Given the description of an element on the screen output the (x, y) to click on. 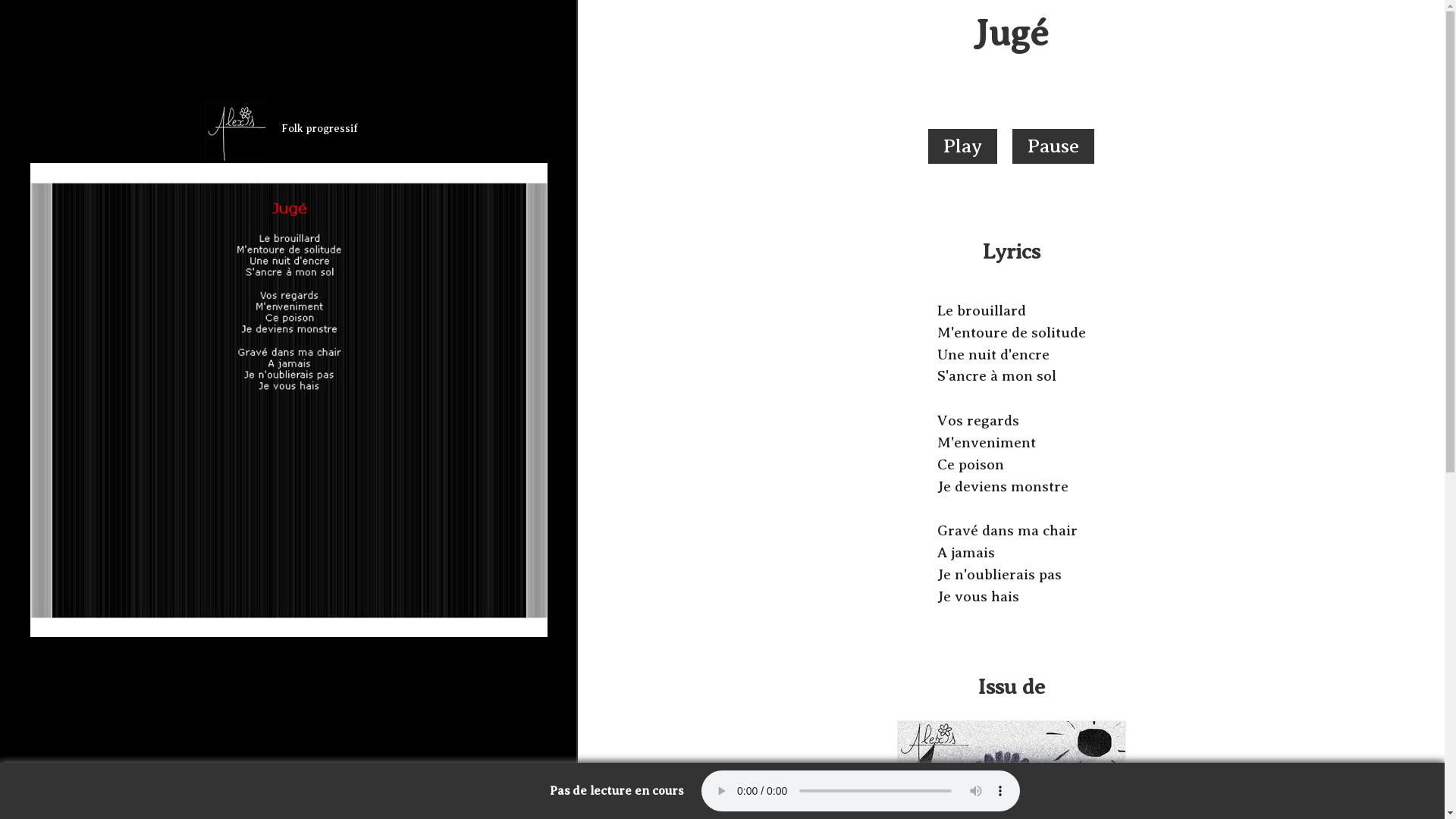
Pause Element type: text (1053, 145)
Folk progressif Element type: text (288, 132)
Play Element type: text (962, 145)
